Given the description of an element on the screen output the (x, y) to click on. 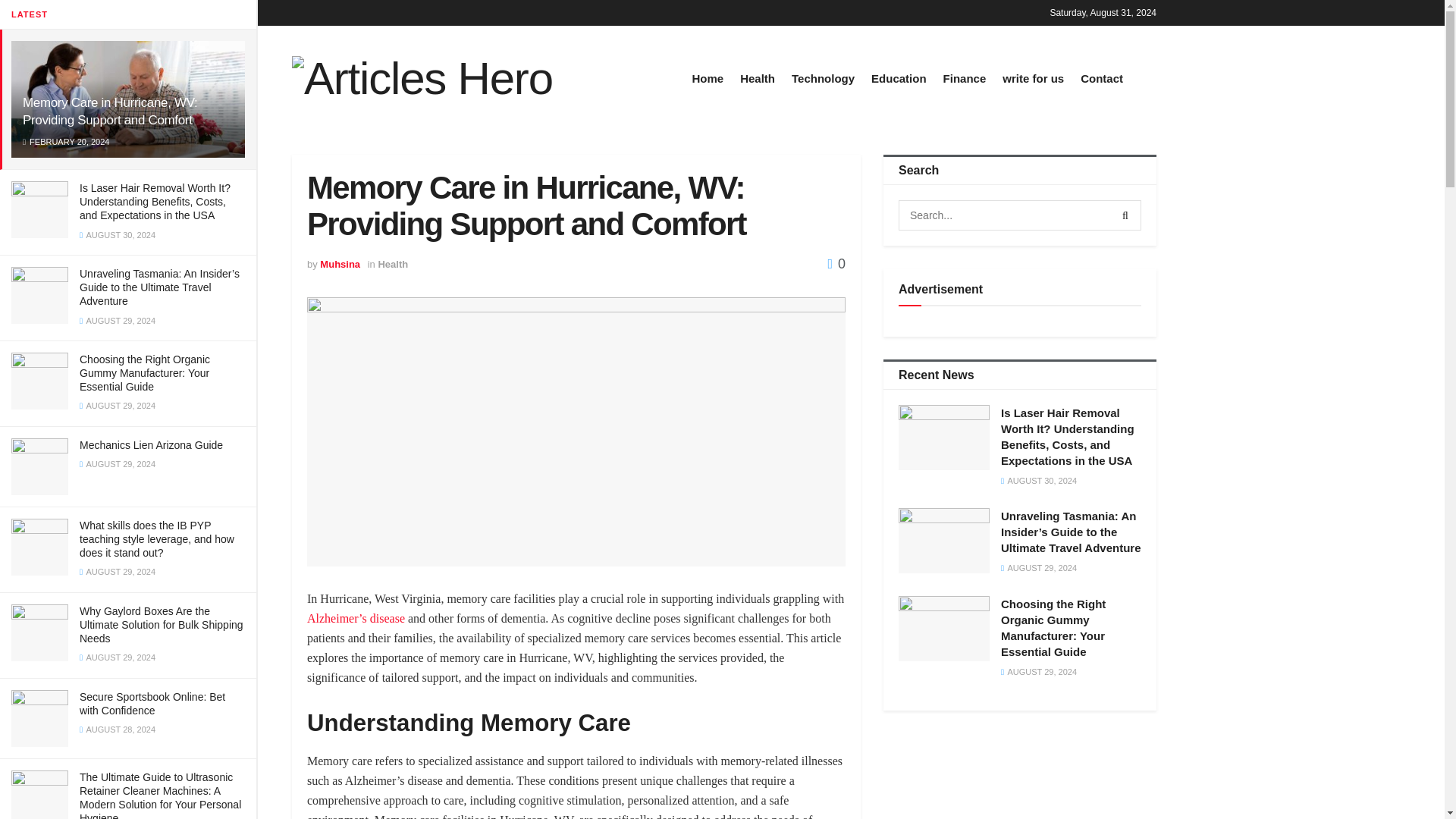
Technology (823, 78)
Home (707, 78)
Health (756, 78)
Contact (1101, 78)
Secure Sportsbook Online: Bet with Confidence (152, 703)
Finance (965, 78)
